Given the description of an element on the screen output the (x, y) to click on. 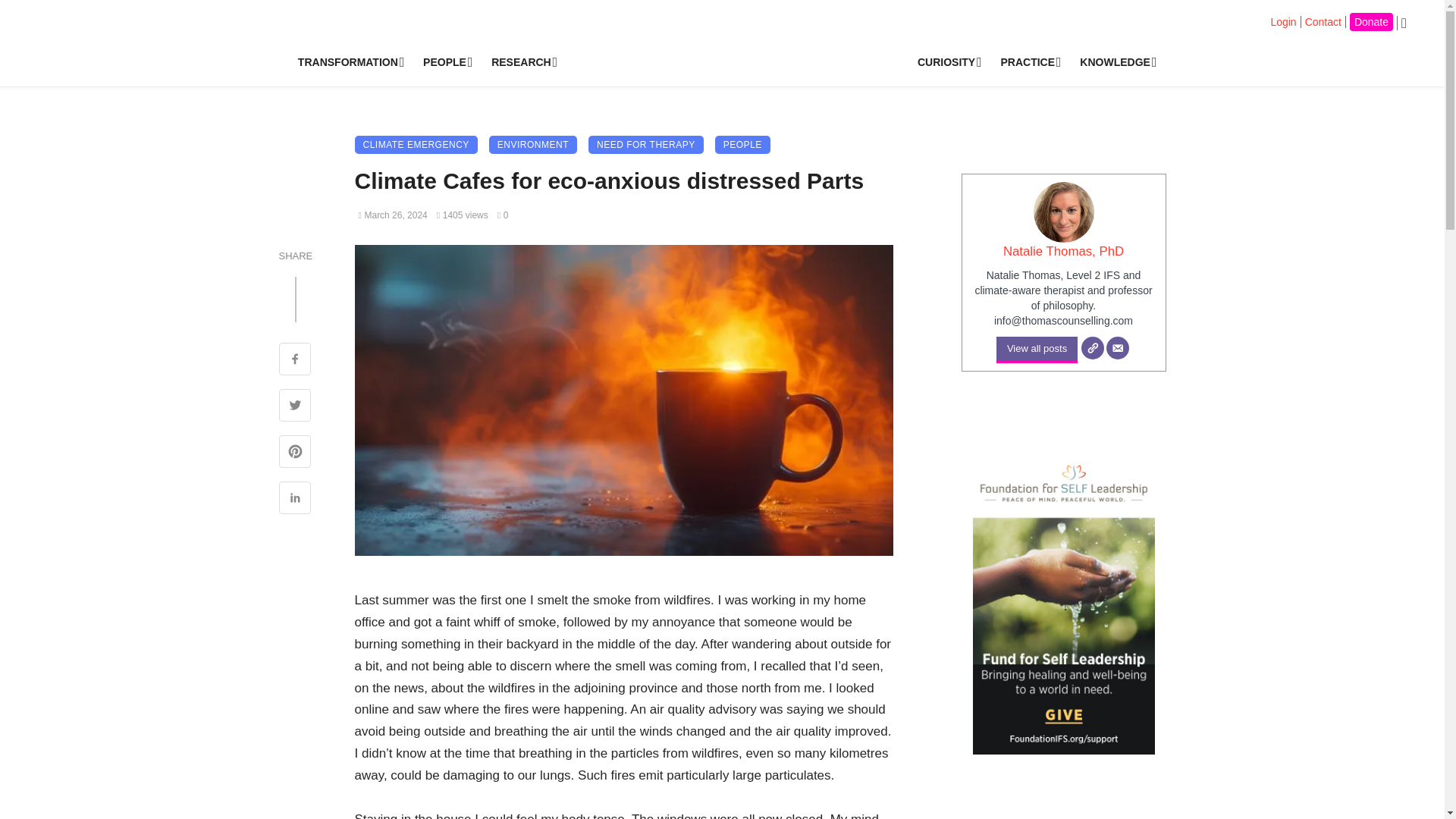
Login (1282, 21)
PEOPLE (742, 144)
NEED FOR THERAPY (645, 144)
Share on Linkedin (295, 499)
0 Comments (502, 214)
ENVIRONMENT (532, 144)
March 26, 2024 at 2:12 pm (392, 214)
CURIOSITY (947, 62)
PRACTICE (1028, 62)
TRANSFORMATION (349, 62)
